Given the description of an element on the screen output the (x, y) to click on. 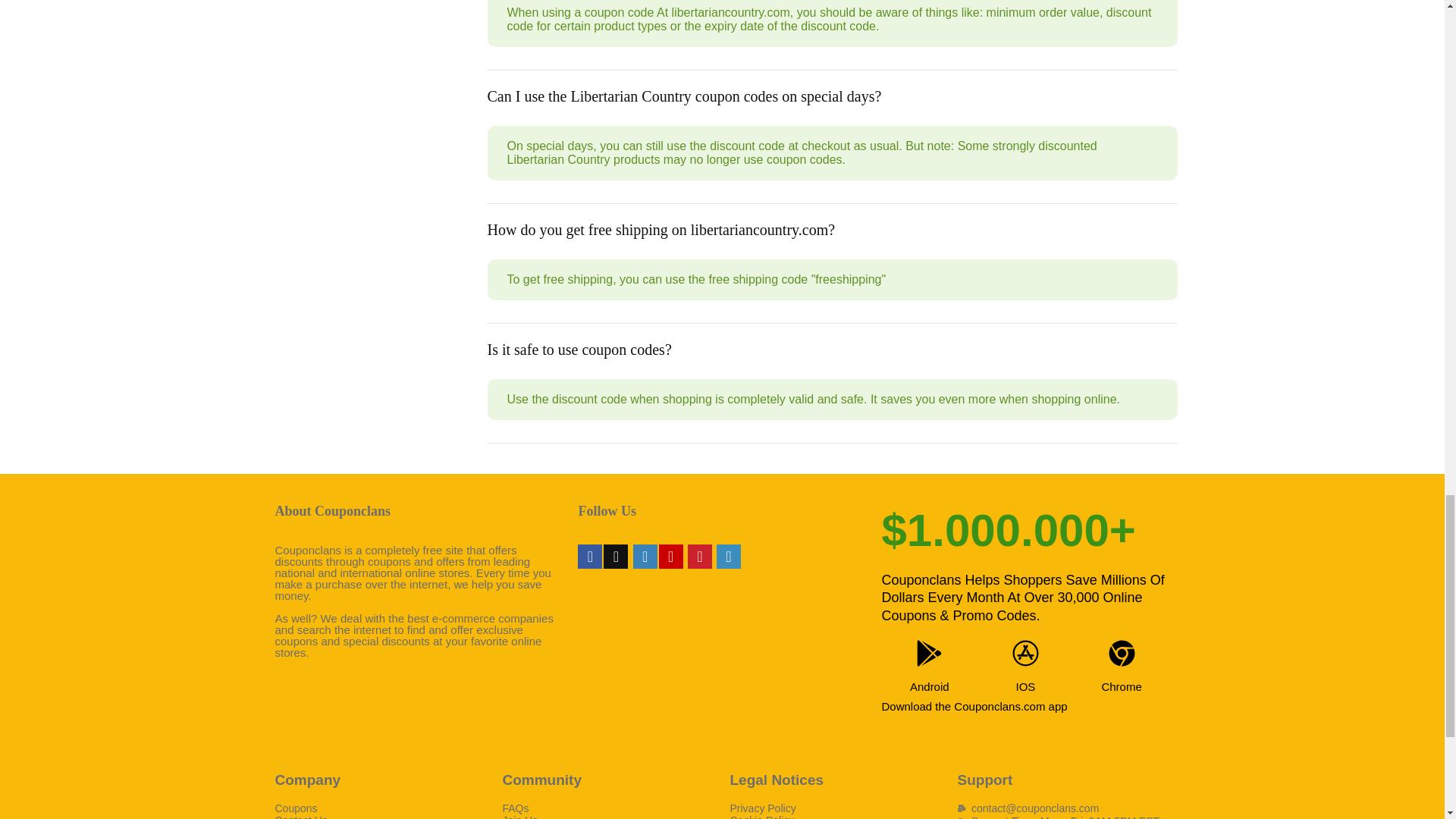
Linkedin (728, 556)
Youtube (670, 556)
Facebook (590, 556)
twitter (615, 556)
Instagramm (645, 556)
Pinterest (699, 556)
